Given the description of an element on the screen output the (x, y) to click on. 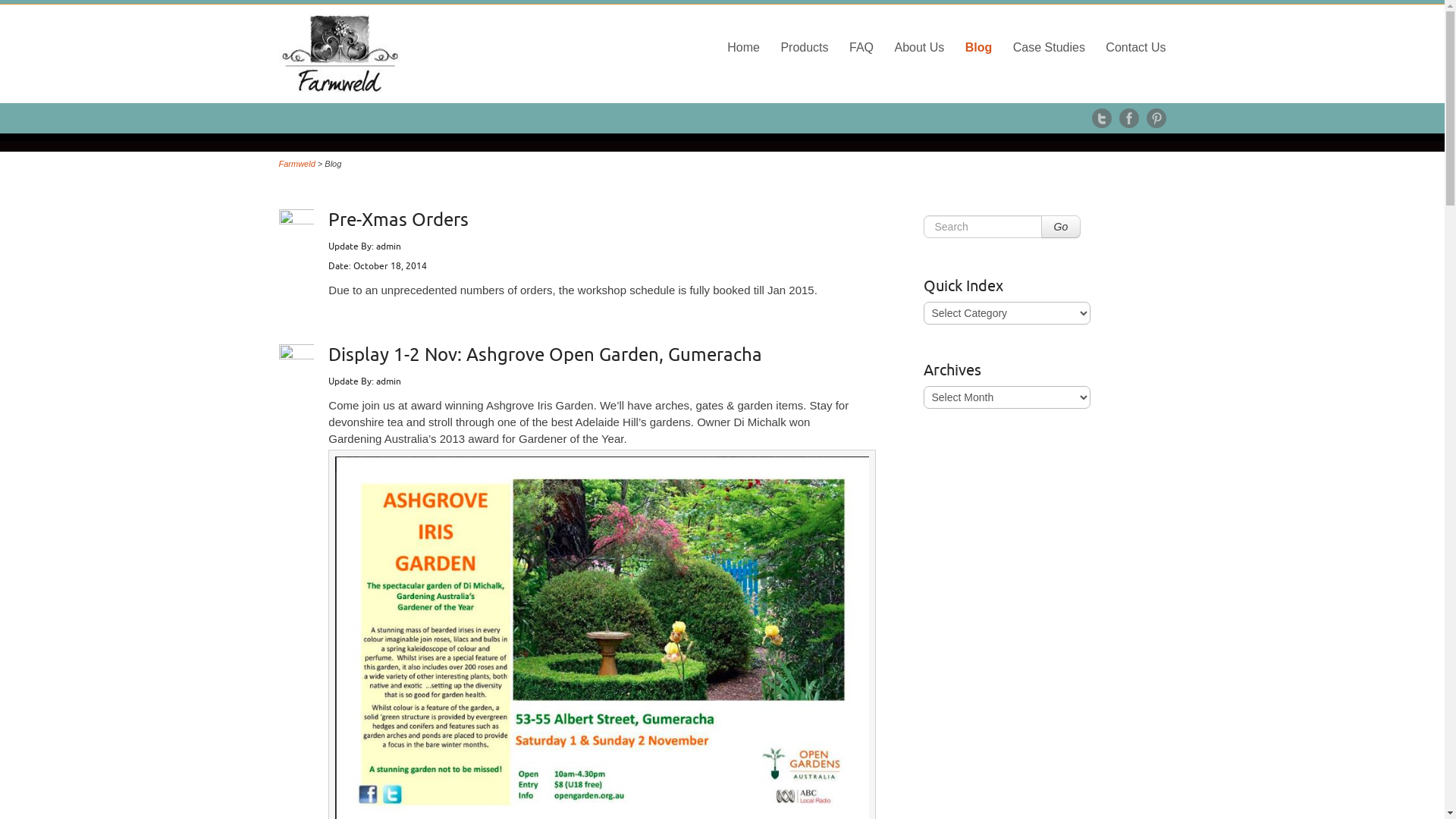
Home Element type: text (743, 47)
Contact Us Element type: text (1135, 47)
FAQ Element type: text (861, 47)
Farmweld Element type: hover (419, 53)
Products Element type: text (804, 47)
About Us Element type: text (919, 47)
Case Studies Element type: text (1049, 47)
Go Element type: text (1060, 226)
Blog Element type: text (978, 47)
Farmweld Element type: text (297, 163)
